Given the description of an element on the screen output the (x, y) to click on. 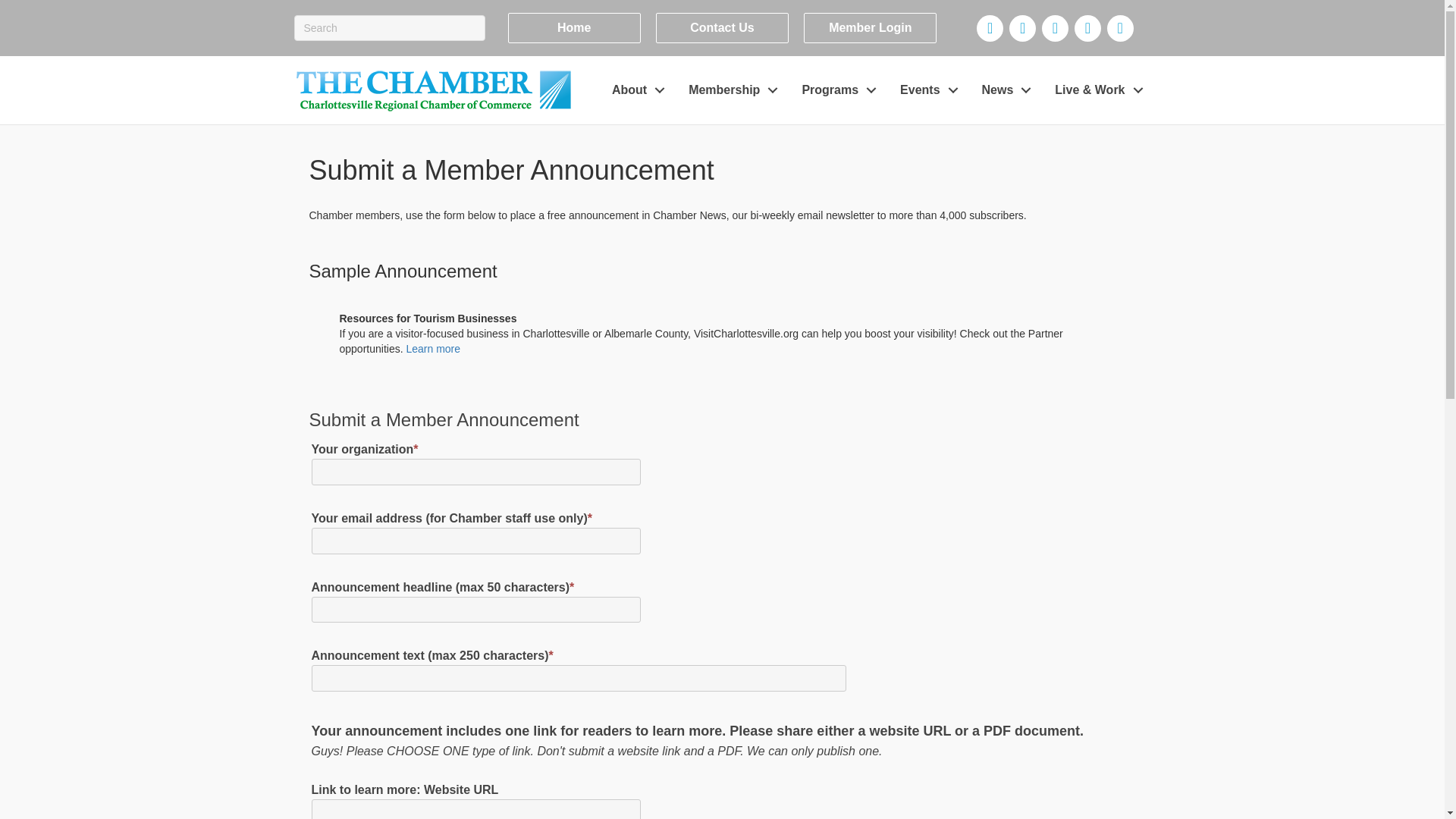
Member Login (869, 28)
Contact Us (722, 28)
Membership (729, 90)
About (634, 90)
Programs (834, 90)
Charlottesville CvilleChamber-logo-forweb-gradient-sm (433, 90)
Type and press Enter to search. (389, 27)
Home (574, 28)
